Given the description of an element on the screen output the (x, y) to click on. 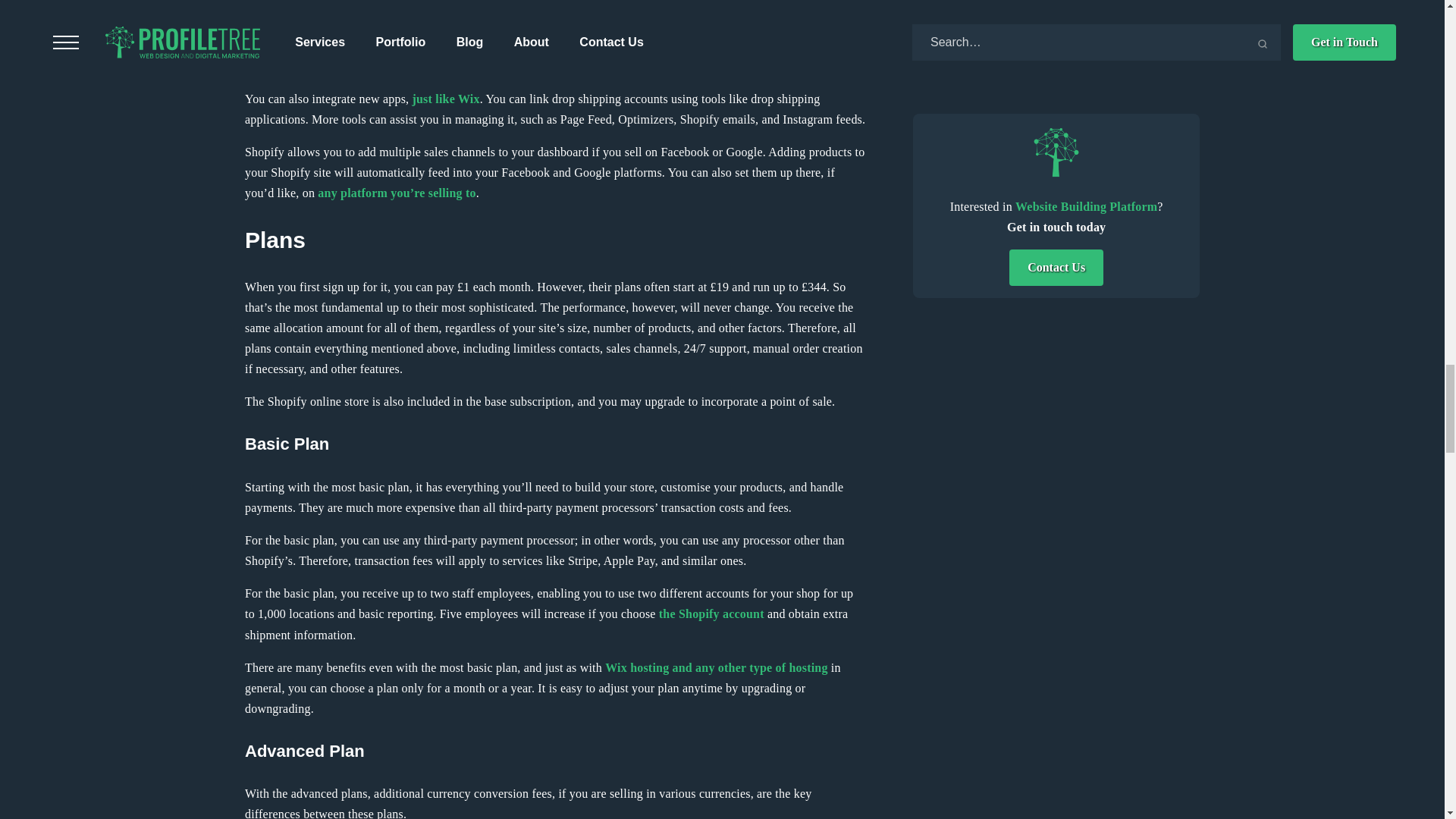
the Shopify account (711, 613)
just like Wix (444, 98)
Wix hosting and any other type of hosting (716, 667)
